Given the description of an element on the screen output the (x, y) to click on. 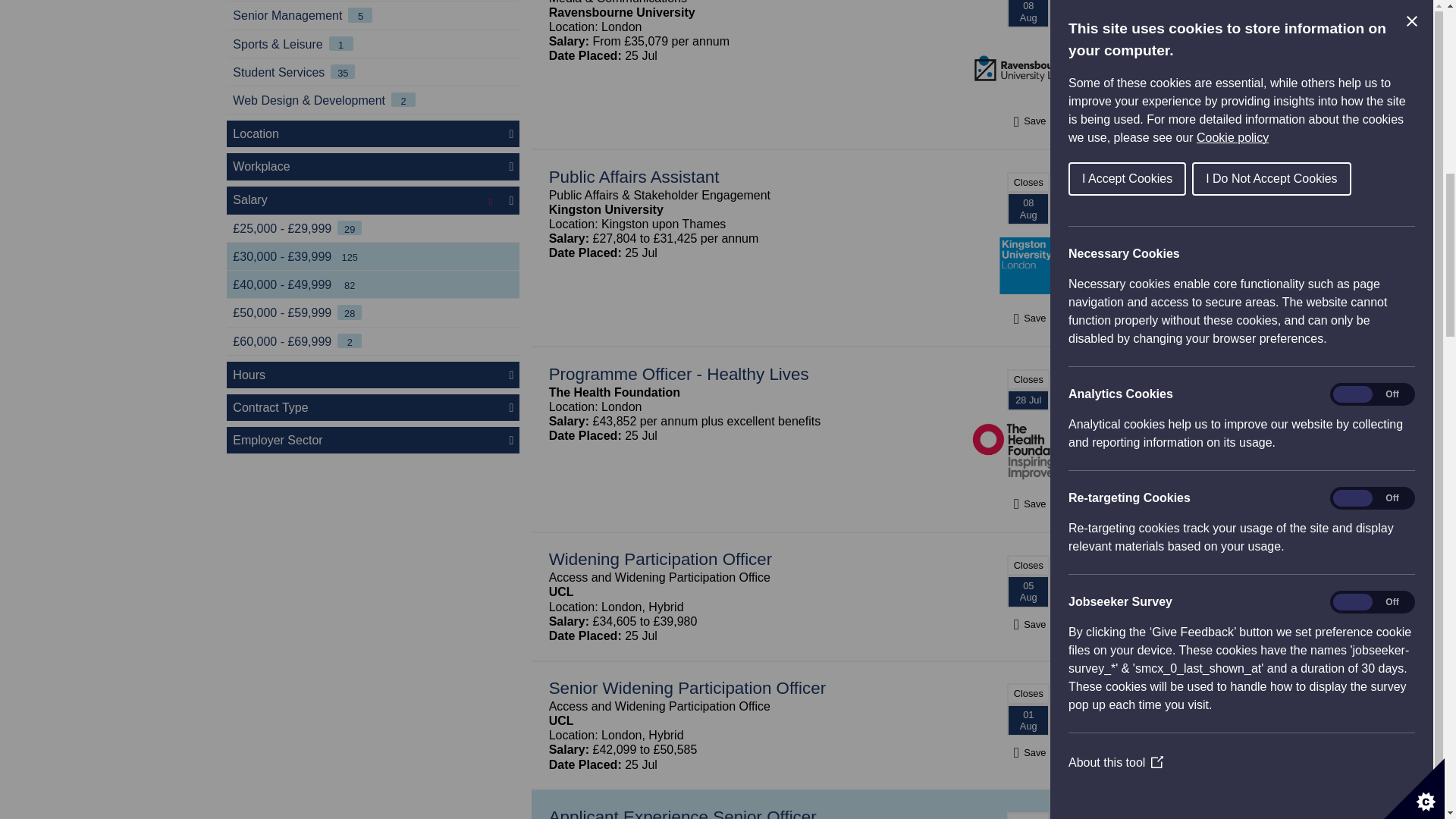
Save job (1027, 317)
Public Affairs Assistant (633, 176)
Save (1027, 120)
Save job (1027, 752)
Save job (1027, 120)
Save job (1027, 624)
Save job (1027, 503)
